Given the description of an element on the screen output the (x, y) to click on. 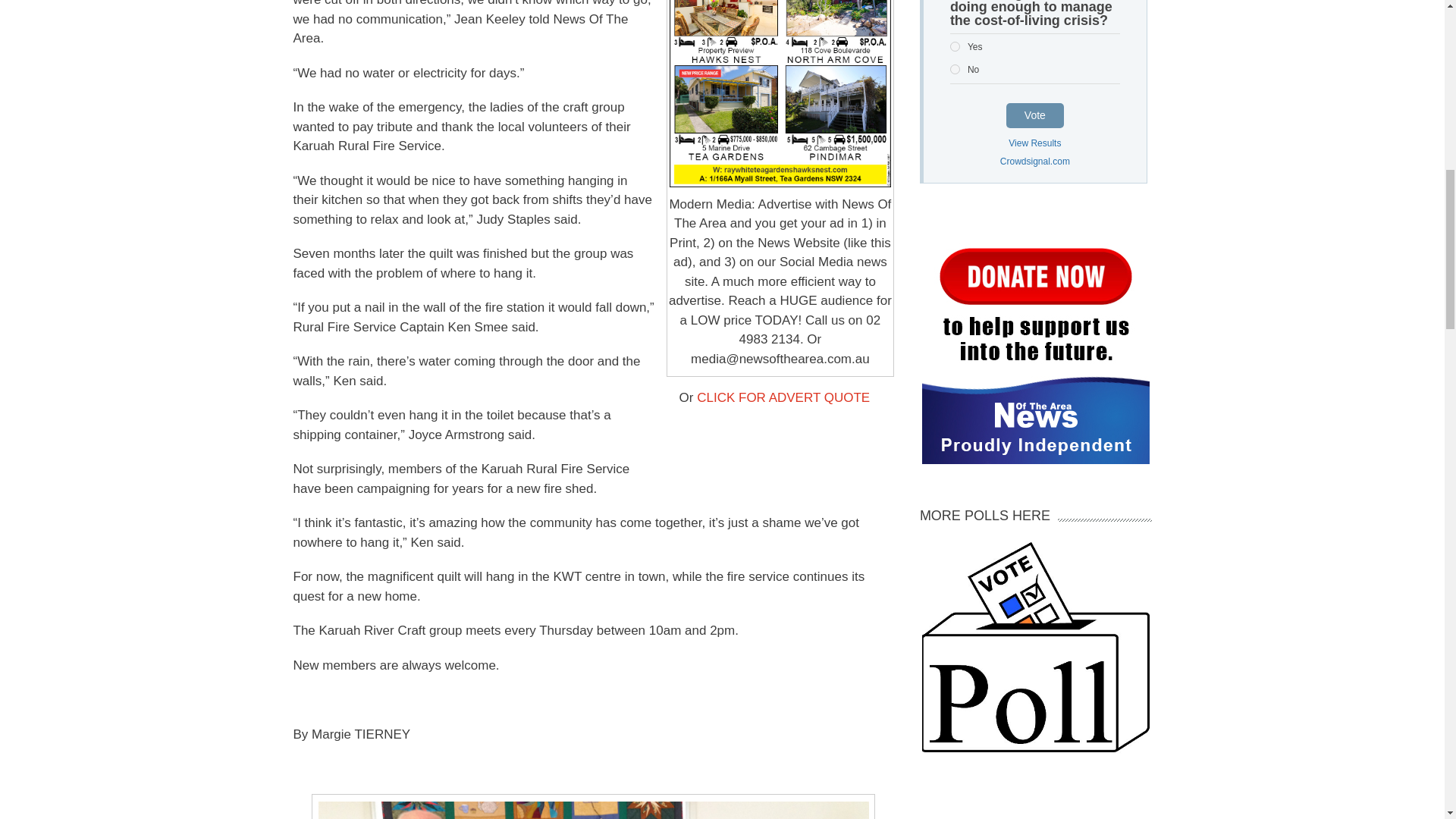
60815113 (954, 46)
60815114 (954, 69)
